Given the description of an element on the screen output the (x, y) to click on. 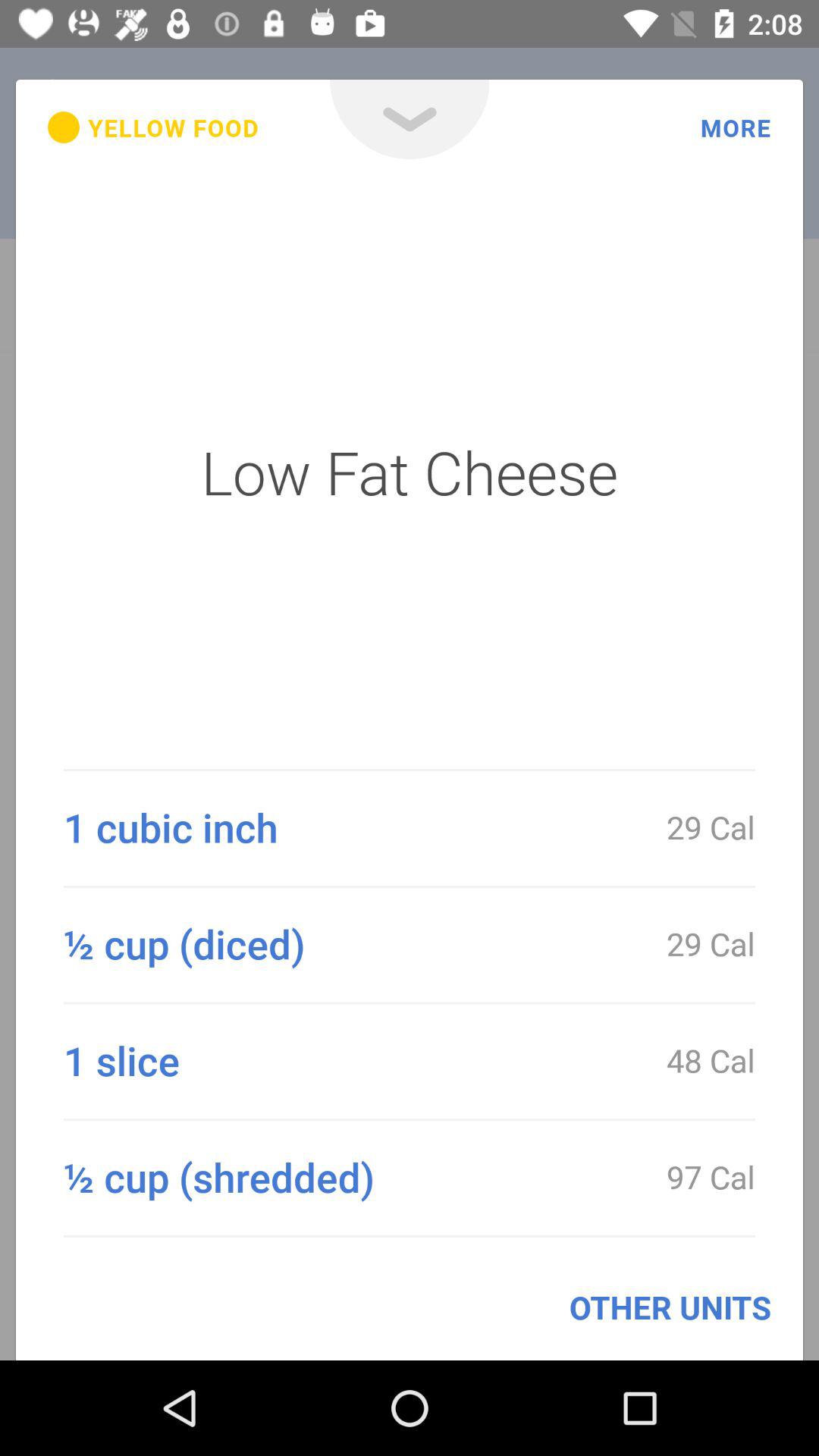
launch the yellow food (152, 127)
